Given the description of an element on the screen output the (x, y) to click on. 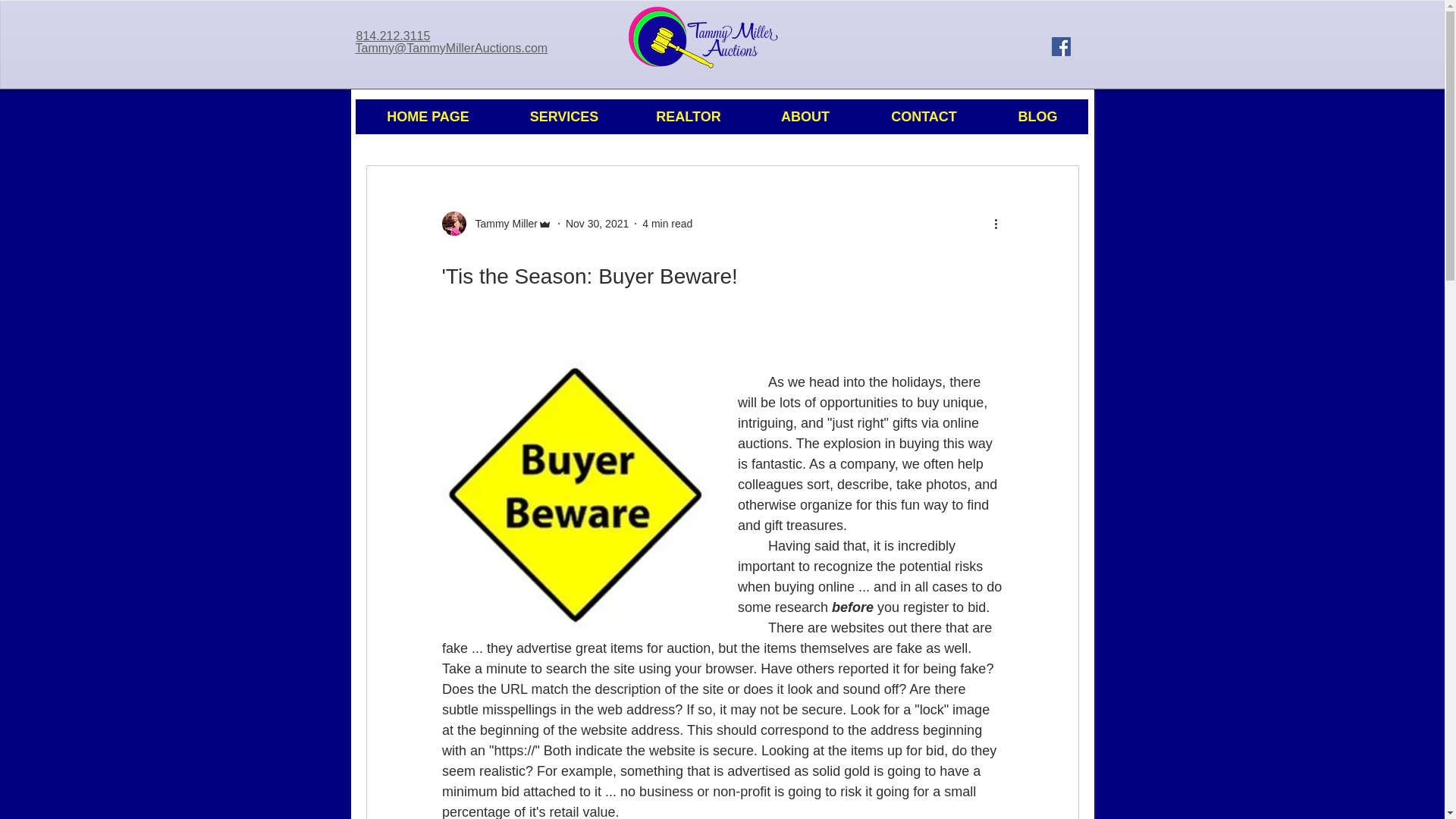
REALTOR (687, 116)
SERVICES (563, 116)
Tammy Miller (501, 222)
BLOG (1037, 116)
All Posts (385, 119)
ABOUT (804, 116)
814.212.3115 (393, 35)
4 min read (667, 223)
HOME PAGE (427, 116)
CONTACT (923, 116)
Nov 30, 2021 (597, 223)
